Given the description of an element on the screen output the (x, y) to click on. 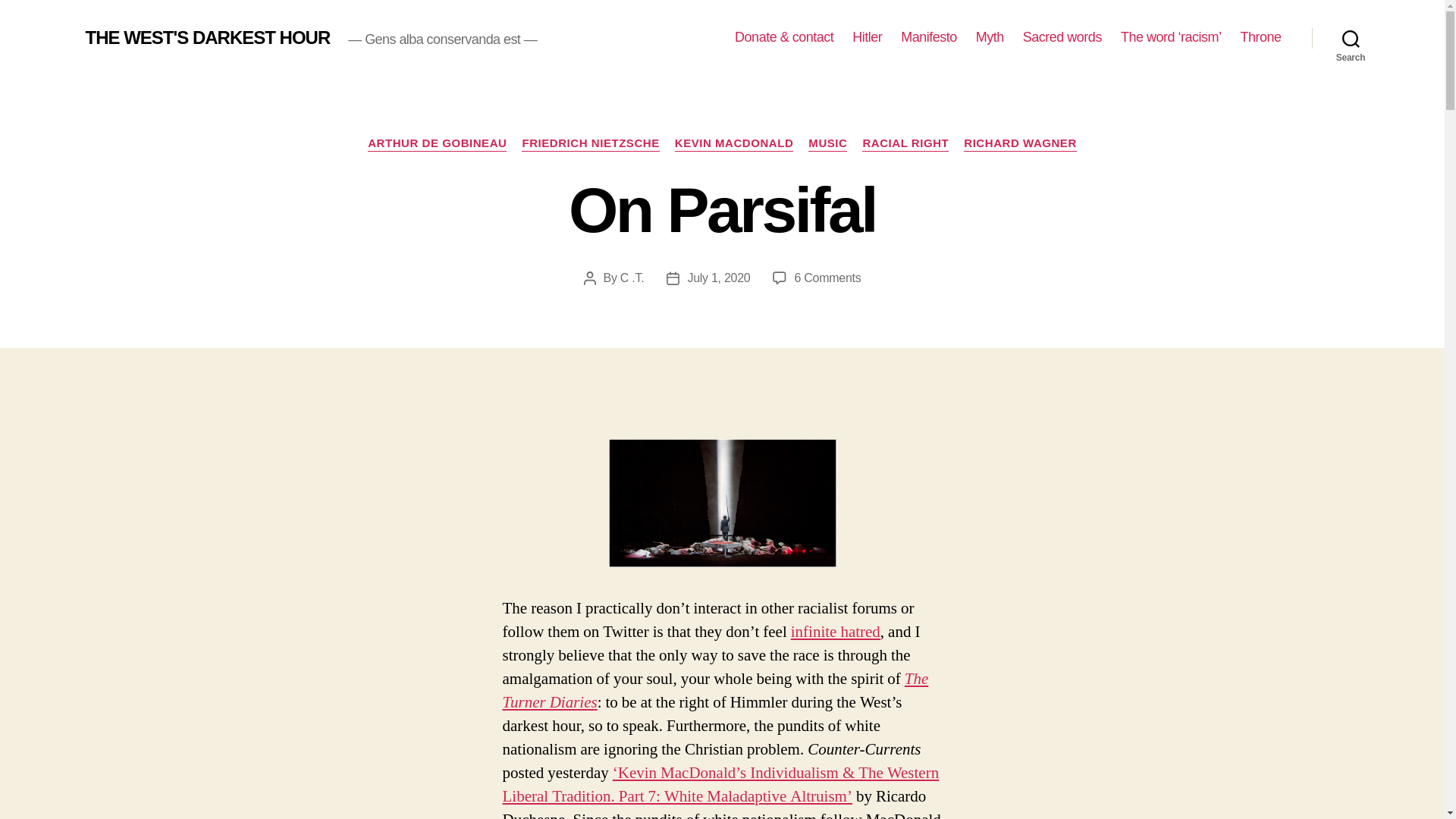
Hitler (866, 37)
July 1, 2020 (718, 277)
Sacred words (1062, 37)
KEVIN MACDONALD (734, 143)
ARTHUR DE GOBINEAU (437, 143)
C .T. (826, 277)
infinite hatred (632, 277)
THE WEST'S DARKEST HOUR (835, 631)
Myth (207, 37)
